Given the description of an element on the screen output the (x, y) to click on. 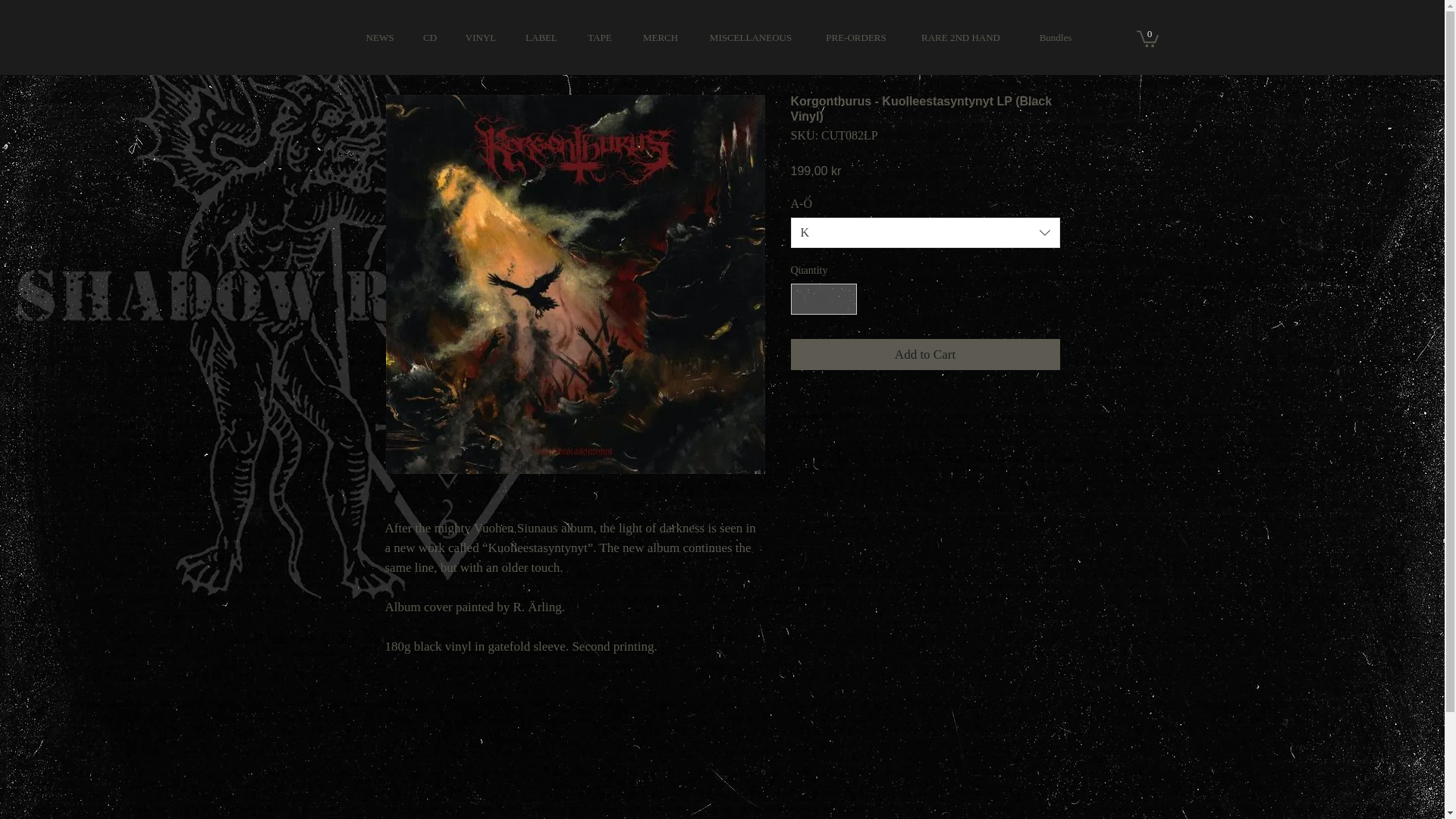
Add to Cart (924, 355)
RARE 2ND HAND (960, 37)
0 (1146, 37)
PRE-ORDERS (856, 37)
MERCH (660, 37)
MISCELLANEOUS (750, 37)
VINYL (480, 37)
LABEL (541, 37)
TAPE (599, 37)
K (924, 232)
